Given the description of an element on the screen output the (x, y) to click on. 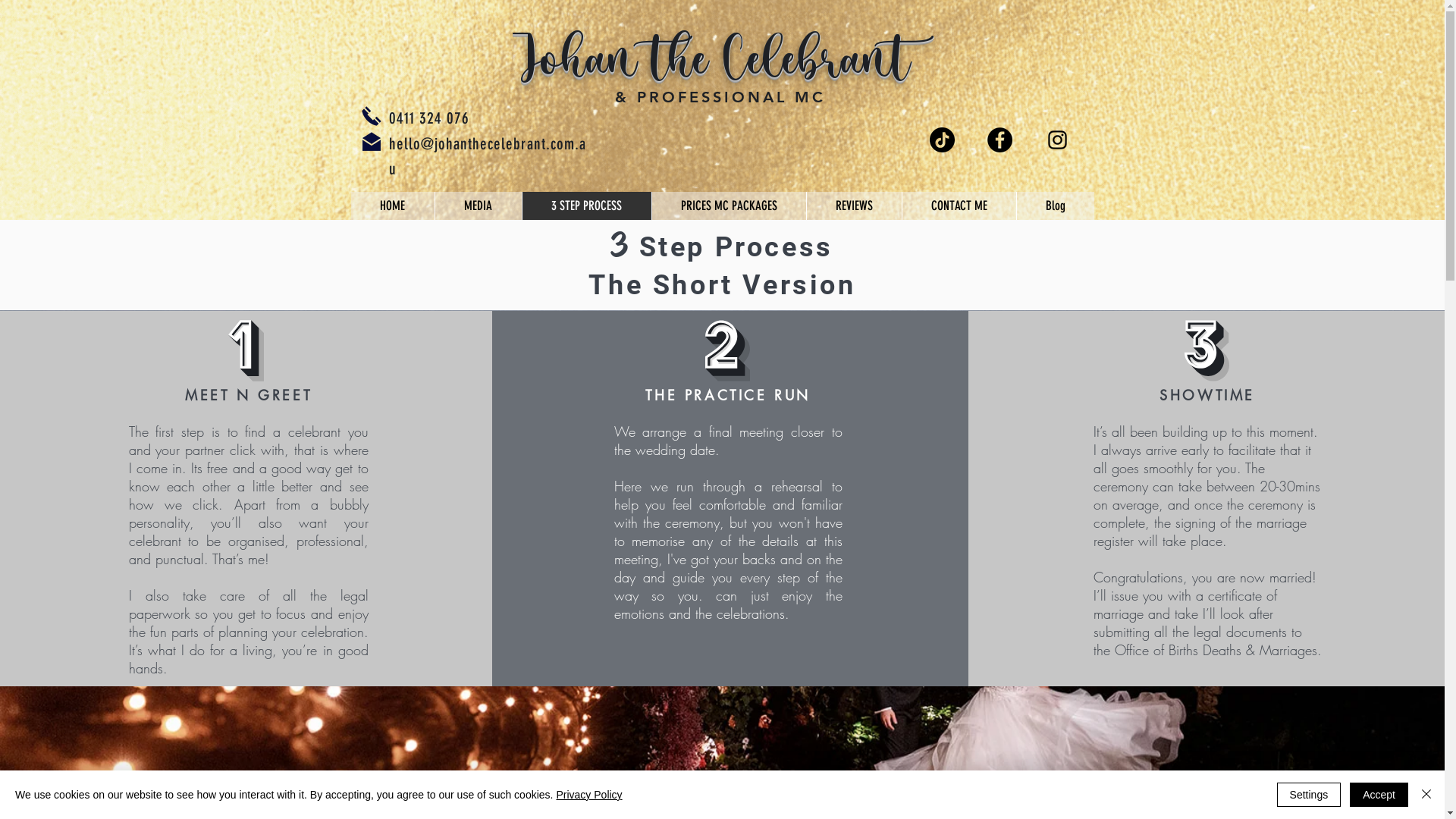
hello@johanthecelebrant.com.au Element type: text (486, 156)
Blog Element type: text (1055, 205)
Accept Element type: text (1378, 794)
3 STEP PROCESS Element type: text (586, 205)
0411 324 076 Element type: text (428, 117)
CONTACT ME Element type: text (957, 205)
MEDIA Element type: text (476, 205)
HOME Element type: text (391, 205)
PRICES MC PACKAGES Element type: text (727, 205)
REVIEWS Element type: text (852, 205)
Settings Element type: text (1309, 794)
Johan the Celebrant  Element type: text (718, 57)
Privacy Policy Element type: text (588, 794)
